Given the description of an element on the screen output the (x, y) to click on. 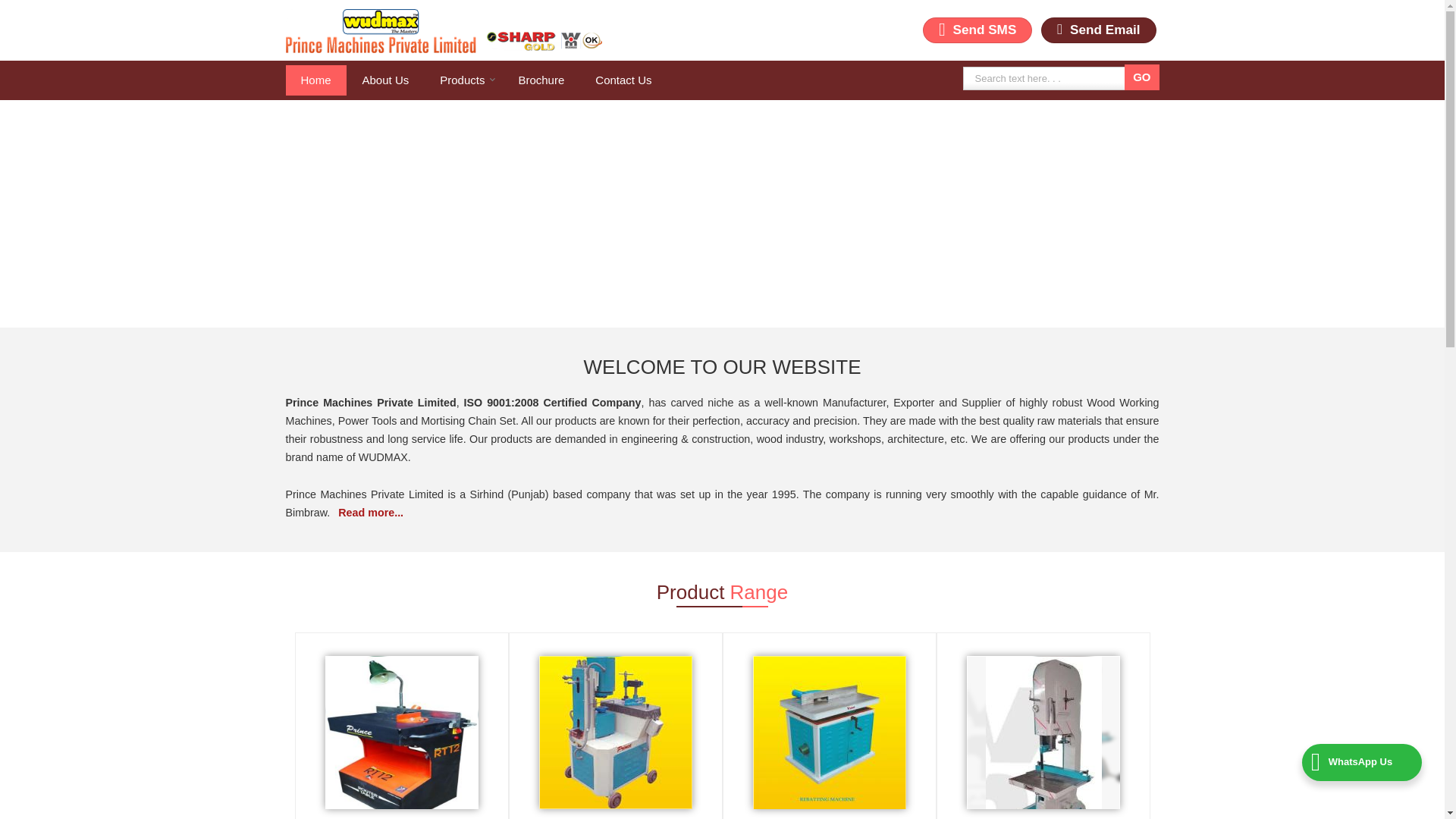
About Us (386, 80)
Send Email (1098, 30)
Read more... (370, 512)
Products (463, 80)
Products (463, 80)
Brochure (540, 80)
Home (315, 80)
GO (1141, 77)
Contact Us (622, 80)
Router Table (401, 737)
GO (1141, 77)
Prince Machines Pvt Ltd (443, 30)
Search text here. . . (1046, 78)
Home (315, 80)
About Us (386, 80)
